Given the description of an element on the screen output the (x, y) to click on. 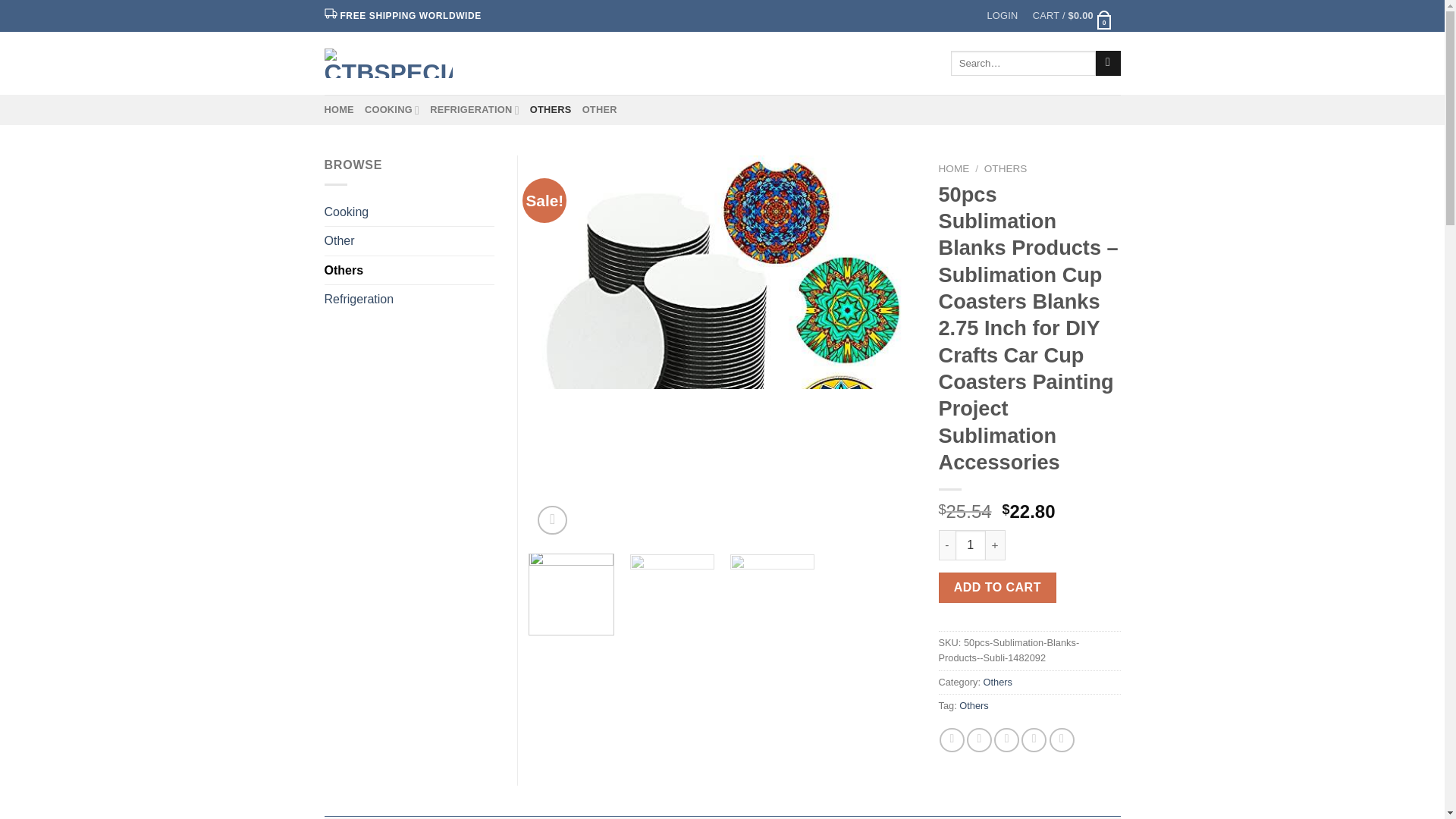
LOGIN (1002, 15)
Others (997, 681)
Cooking (409, 212)
Cart (1072, 15)
1 (970, 544)
Zoom (552, 520)
Pin on Pinterest (1034, 740)
COOKING (392, 110)
Others (409, 270)
Share on Twitter (978, 740)
